Given the description of an element on the screen output the (x, y) to click on. 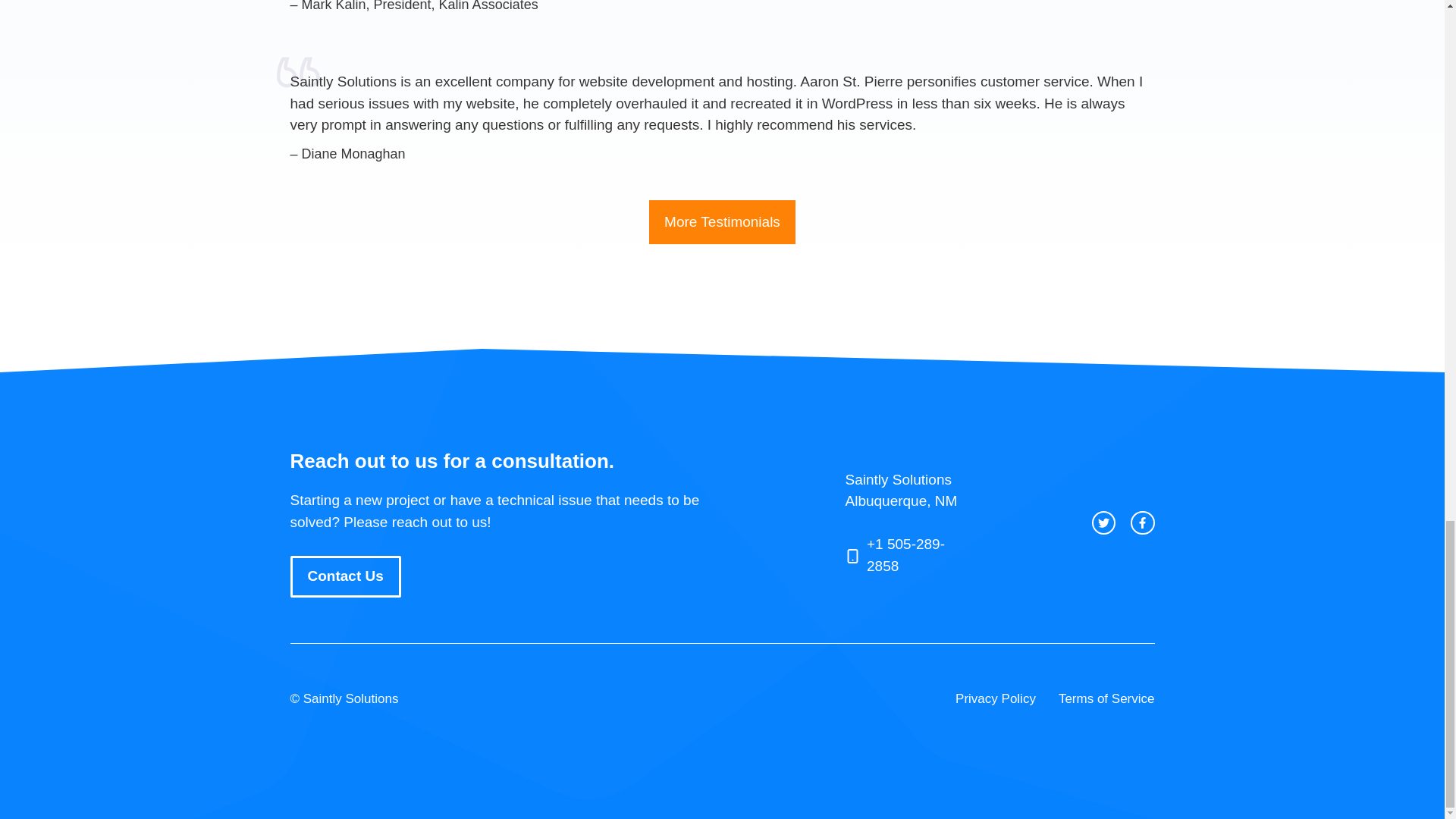
Contact Us (344, 576)
Saintly Solutions (350, 698)
Terms of Service (1106, 698)
Privacy Policy (995, 698)
